Given the description of an element on the screen output the (x, y) to click on. 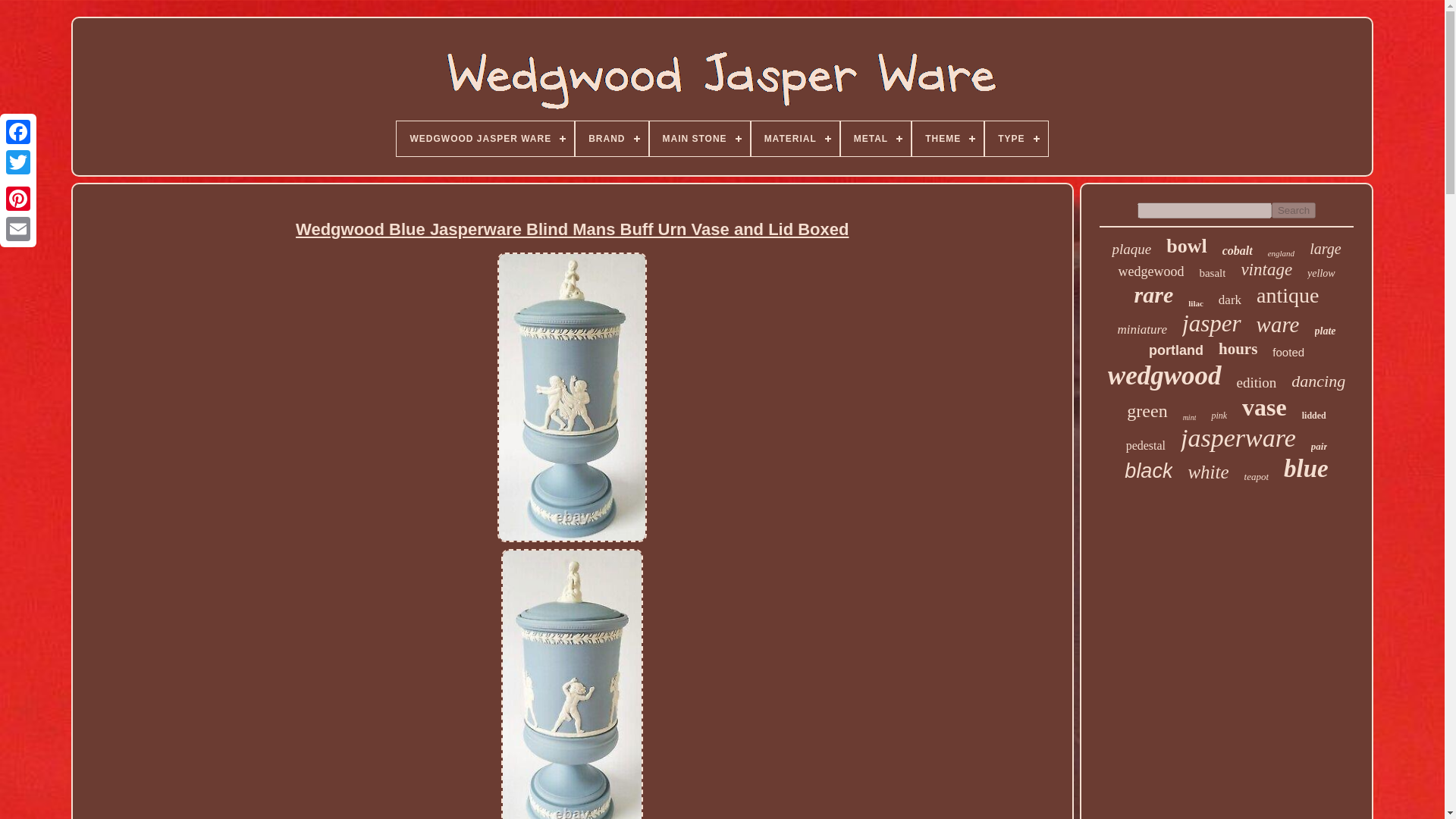
MAIN STONE (699, 138)
Search (1293, 210)
WEDGWOOD JASPER WARE (484, 138)
BRAND (611, 138)
MATERIAL (795, 138)
